Given the description of an element on the screen output the (x, y) to click on. 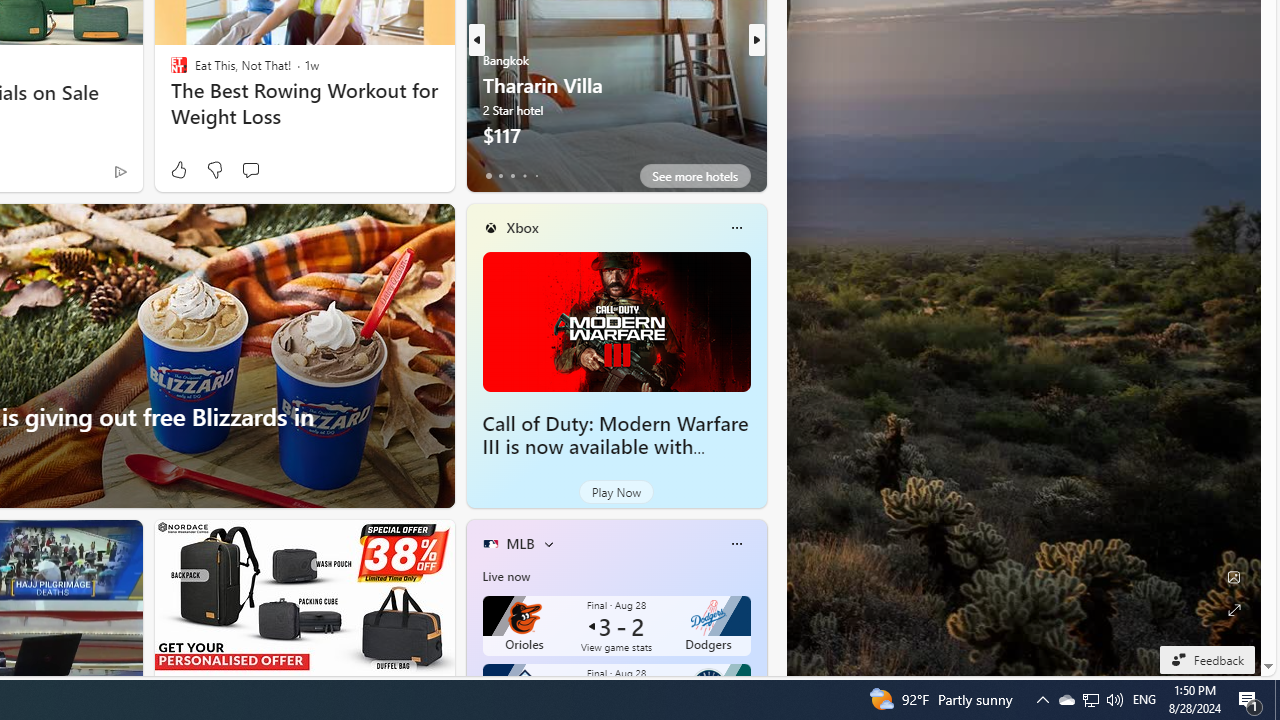
tab-4 (535, 175)
Ad Choice (119, 171)
See more hotels (694, 175)
Play Now (616, 491)
More options (736, 543)
Xbox (521, 227)
Edit Background (1233, 577)
Dislike (213, 170)
Like (178, 170)
Expand background (1233, 610)
tab-0 (488, 175)
Class: icon-img (736, 543)
